Given the description of an element on the screen output the (x, y) to click on. 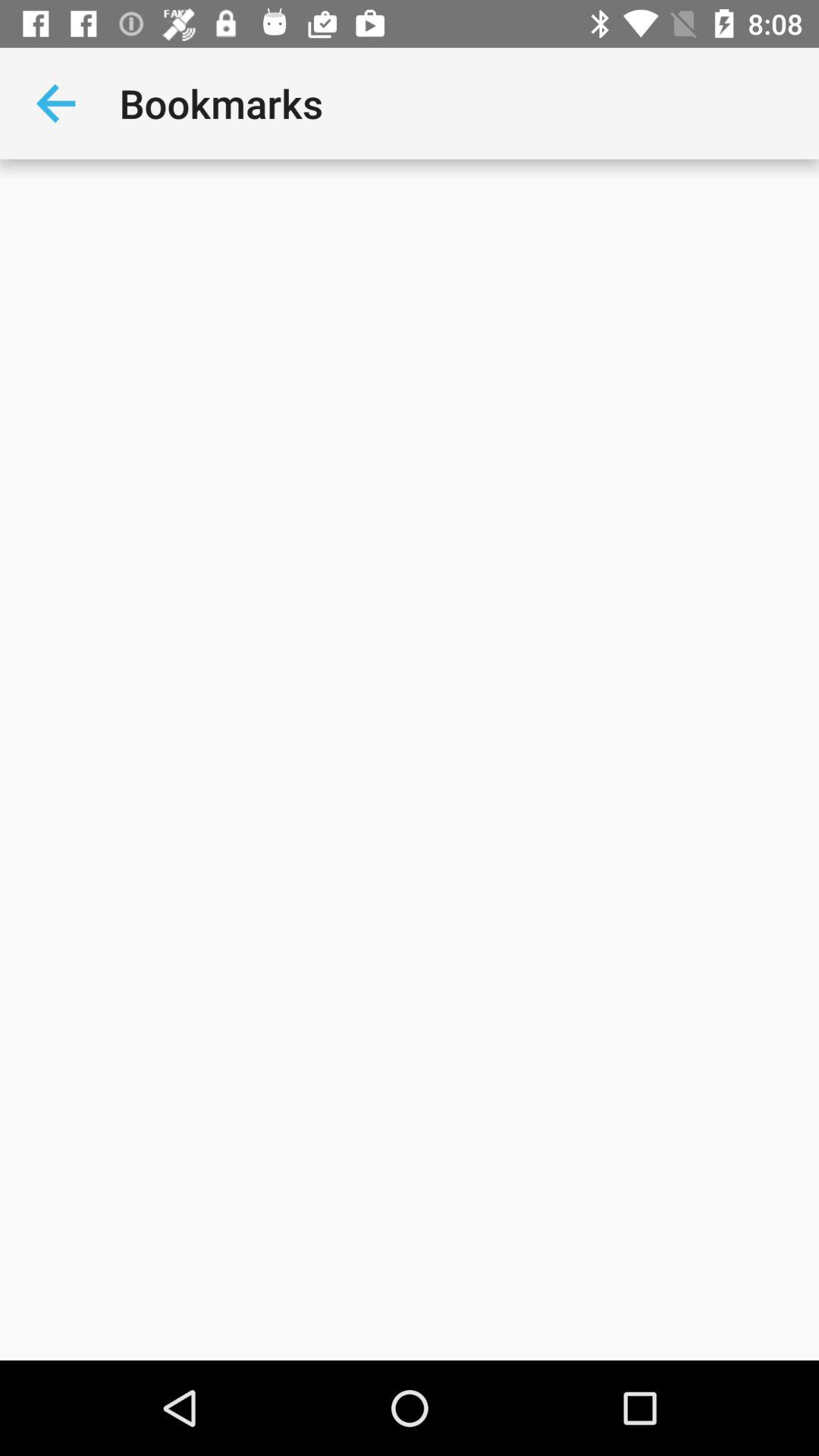
choose item to the left of bookmarks item (55, 103)
